Given the description of an element on the screen output the (x, y) to click on. 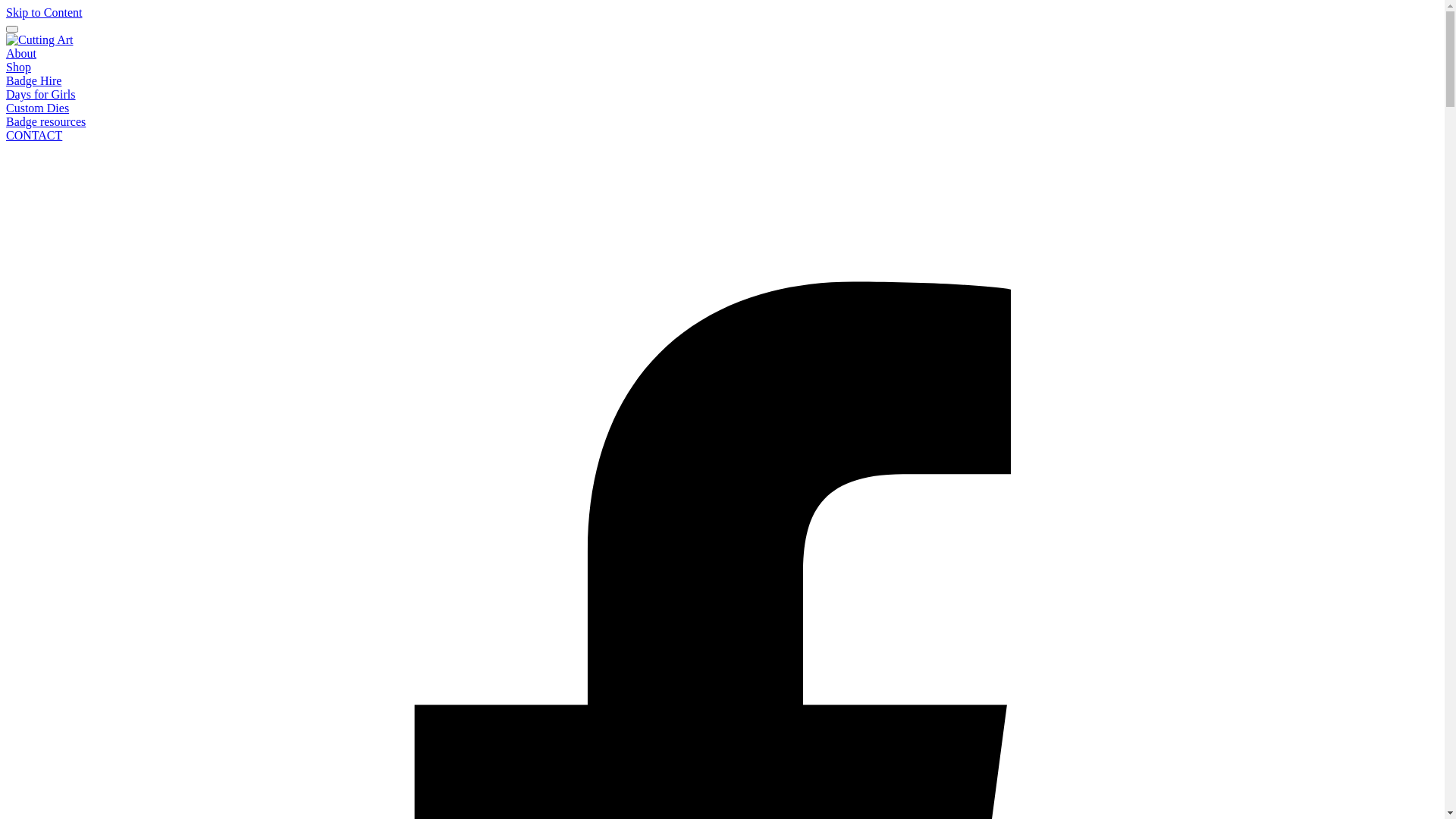
CONTACT Element type: text (34, 134)
About Element type: text (21, 53)
Shop Element type: text (18, 66)
Badge Hire Element type: text (33, 80)
Days for Girls Element type: text (40, 93)
Badge resources Element type: text (45, 121)
Custom Dies Element type: text (37, 107)
Skip to Content Element type: text (43, 12)
